Given the description of an element on the screen output the (x, y) to click on. 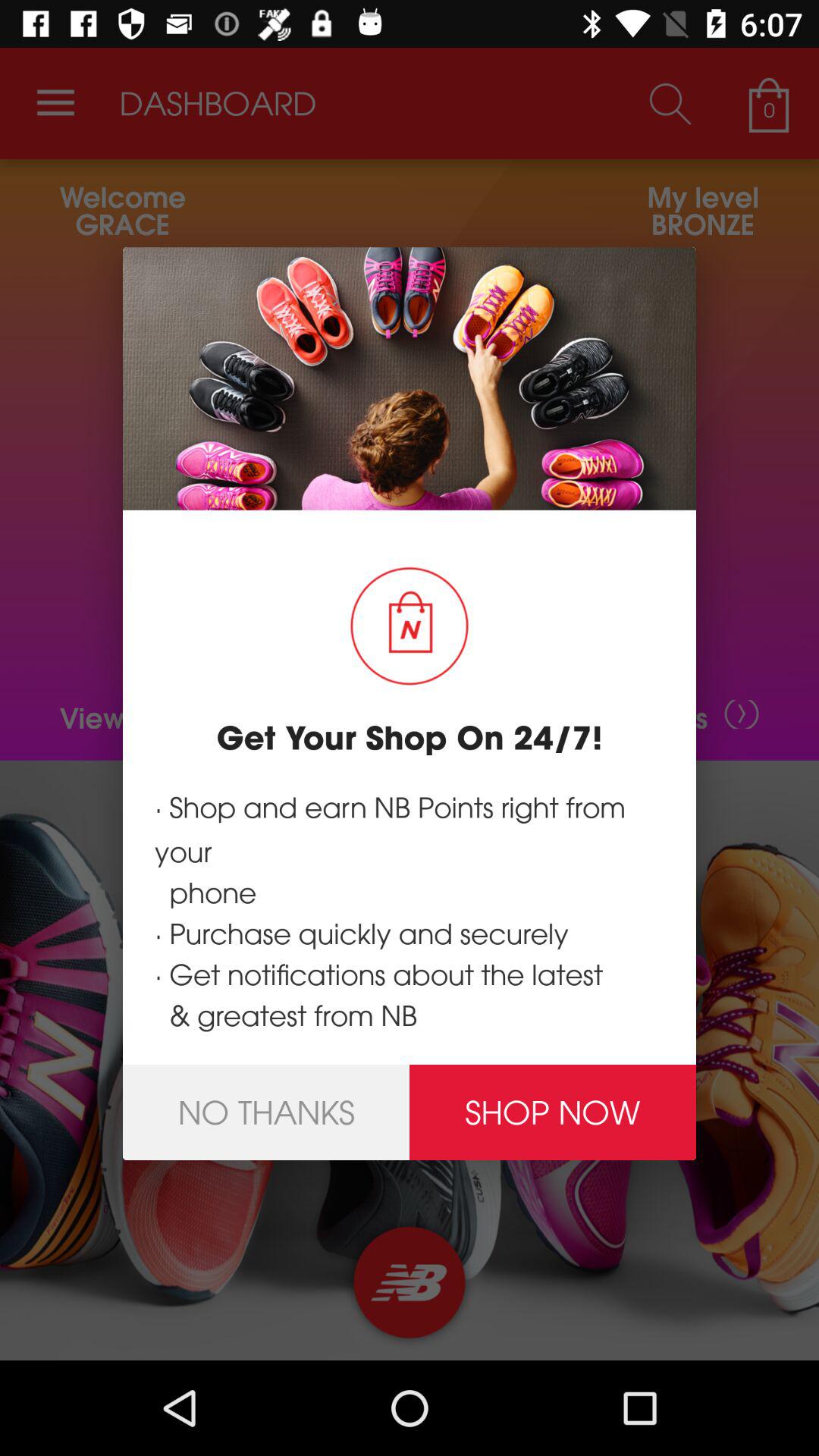
click shop now icon (552, 1112)
